Given the description of an element on the screen output the (x, y) to click on. 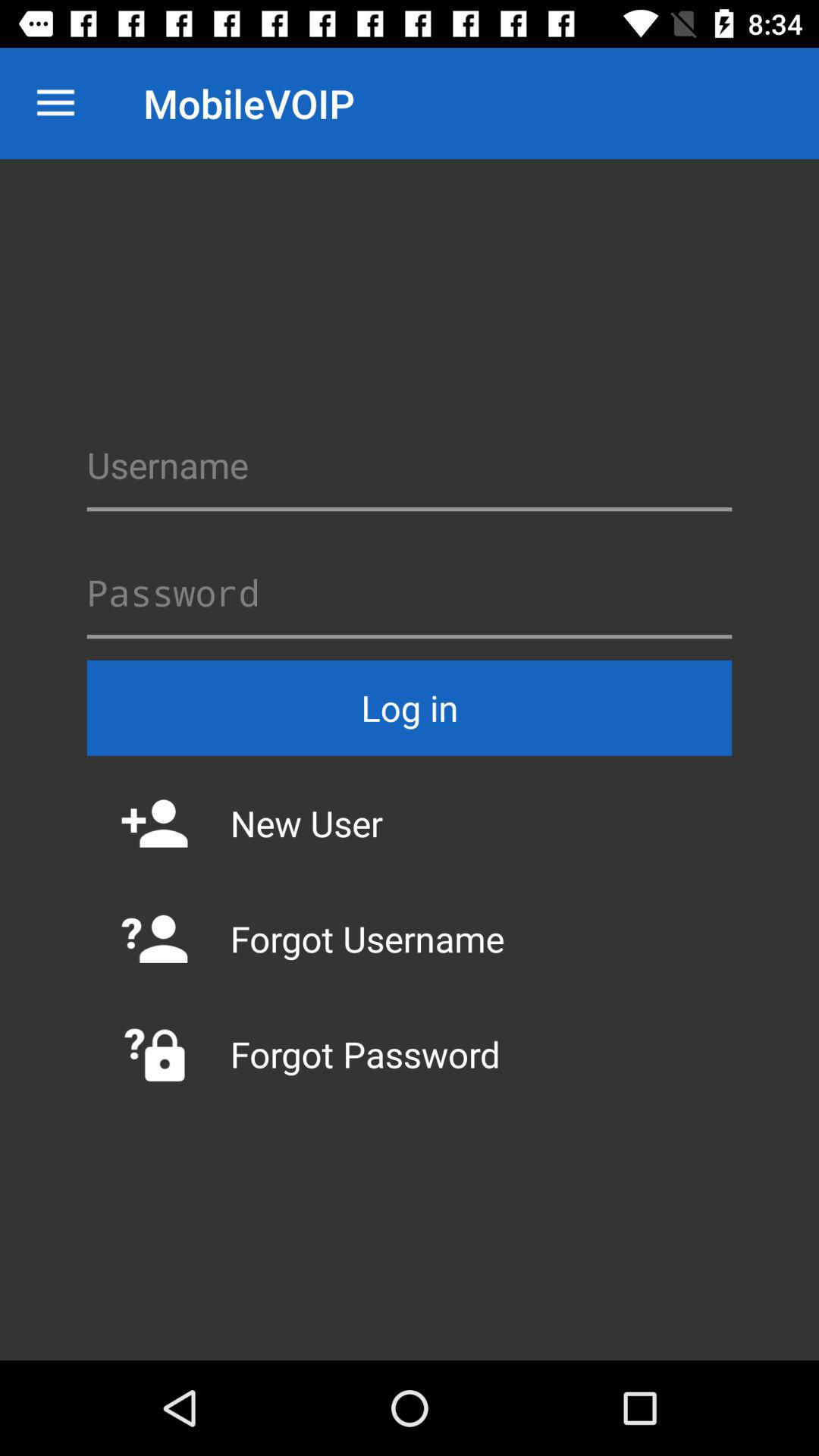
flip until forgot password (409, 1054)
